Given the description of an element on the screen output the (x, y) to click on. 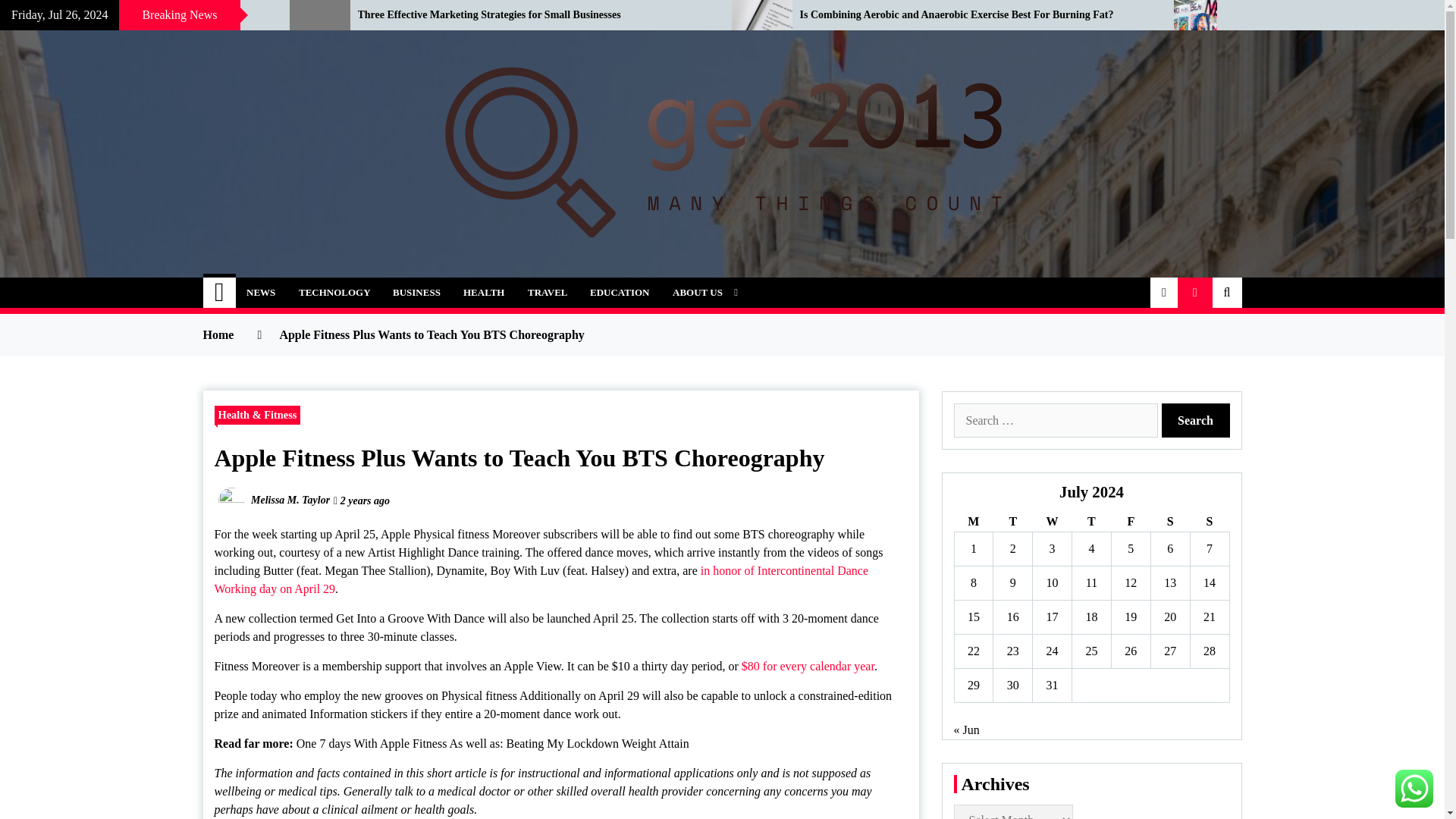
Home (219, 292)
Search (1195, 420)
Breaking News From the World of Entertainment (133, 15)
Thursday (1091, 521)
Saturday (1169, 521)
Sunday (1208, 521)
Three Effective Marketing Strategies for Small Businesses (533, 15)
Monday (972, 521)
Tuesday (1012, 521)
Friday (1130, 521)
Wednesday (1051, 521)
Search (1195, 420)
